Given the description of an element on the screen output the (x, y) to click on. 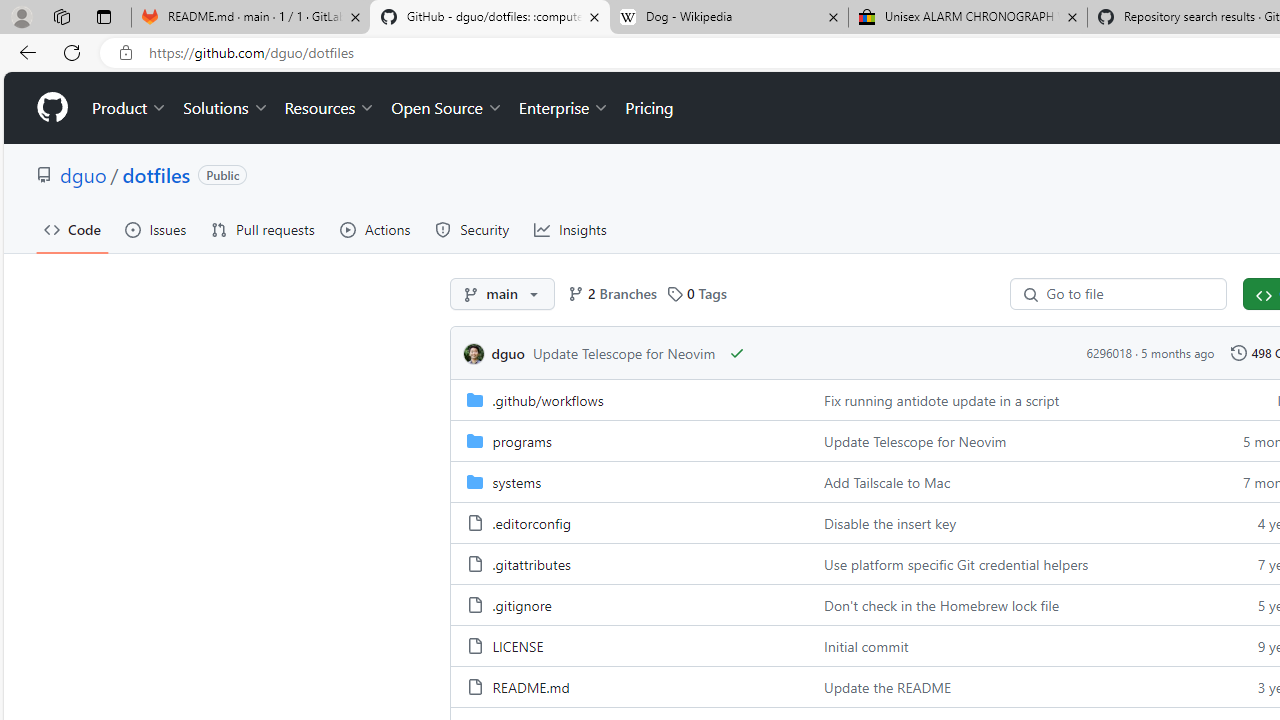
Product (130, 107)
Security (472, 229)
.gitignore, (File) (521, 604)
.gitignore, (File) (629, 603)
Product (130, 107)
Solutions (225, 107)
Issues (155, 229)
LICENSE, (File) (629, 645)
Enterprise (563, 107)
LICENSE, (File) (517, 645)
Fix running antidote update in a script (1008, 398)
Homepage (51, 107)
dguo (473, 354)
